Given the description of an element on the screen output the (x, y) to click on. 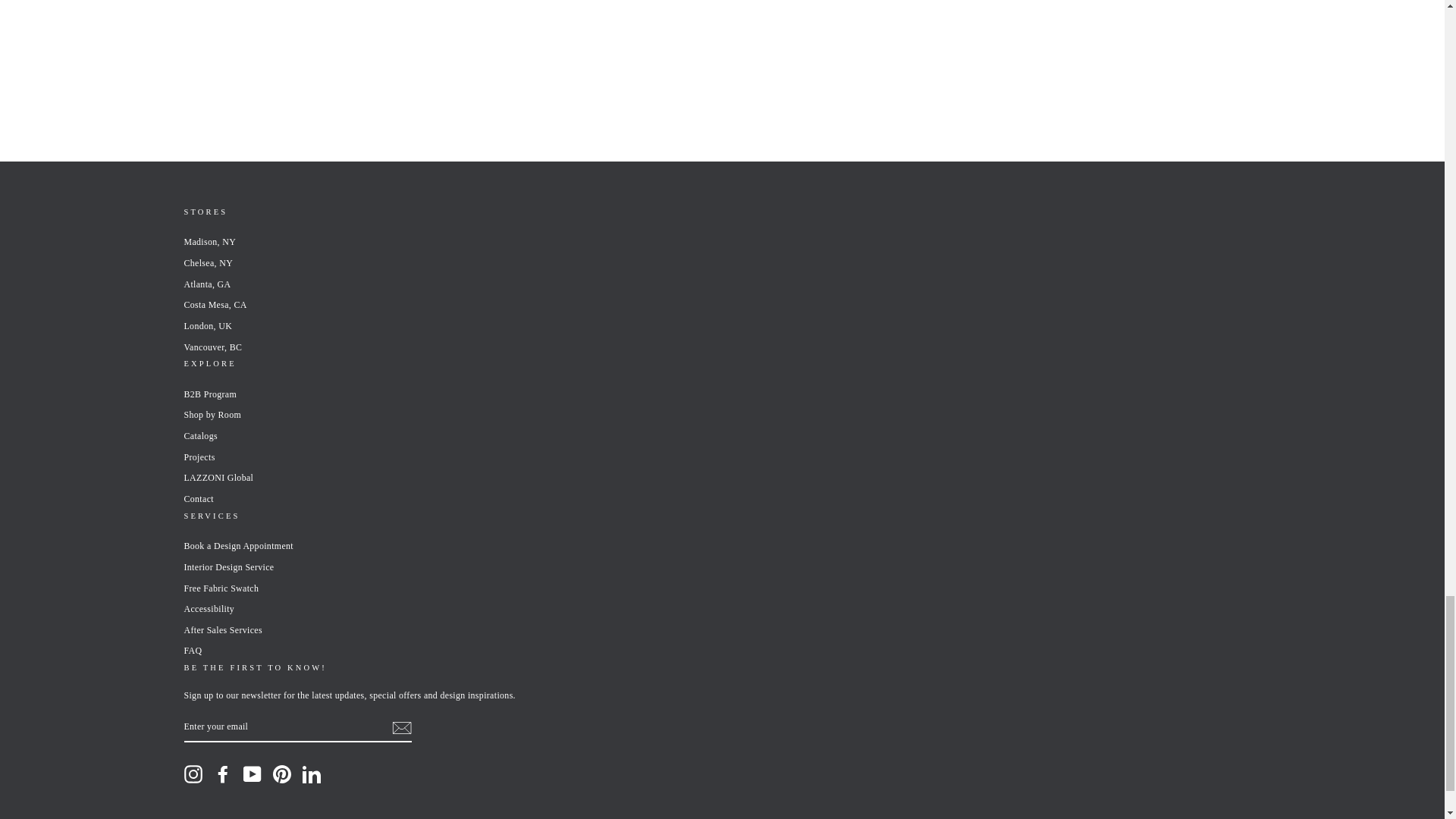
Lazzoni Furniture on Pinterest (282, 773)
Lazzoni Furniture on Facebook (222, 773)
Lazzoni Furniture on LinkedIn (310, 773)
Lazzoni Furniture on Instagram (192, 773)
Lazzoni Furniture on YouTube (251, 773)
